Given the description of an element on the screen output the (x, y) to click on. 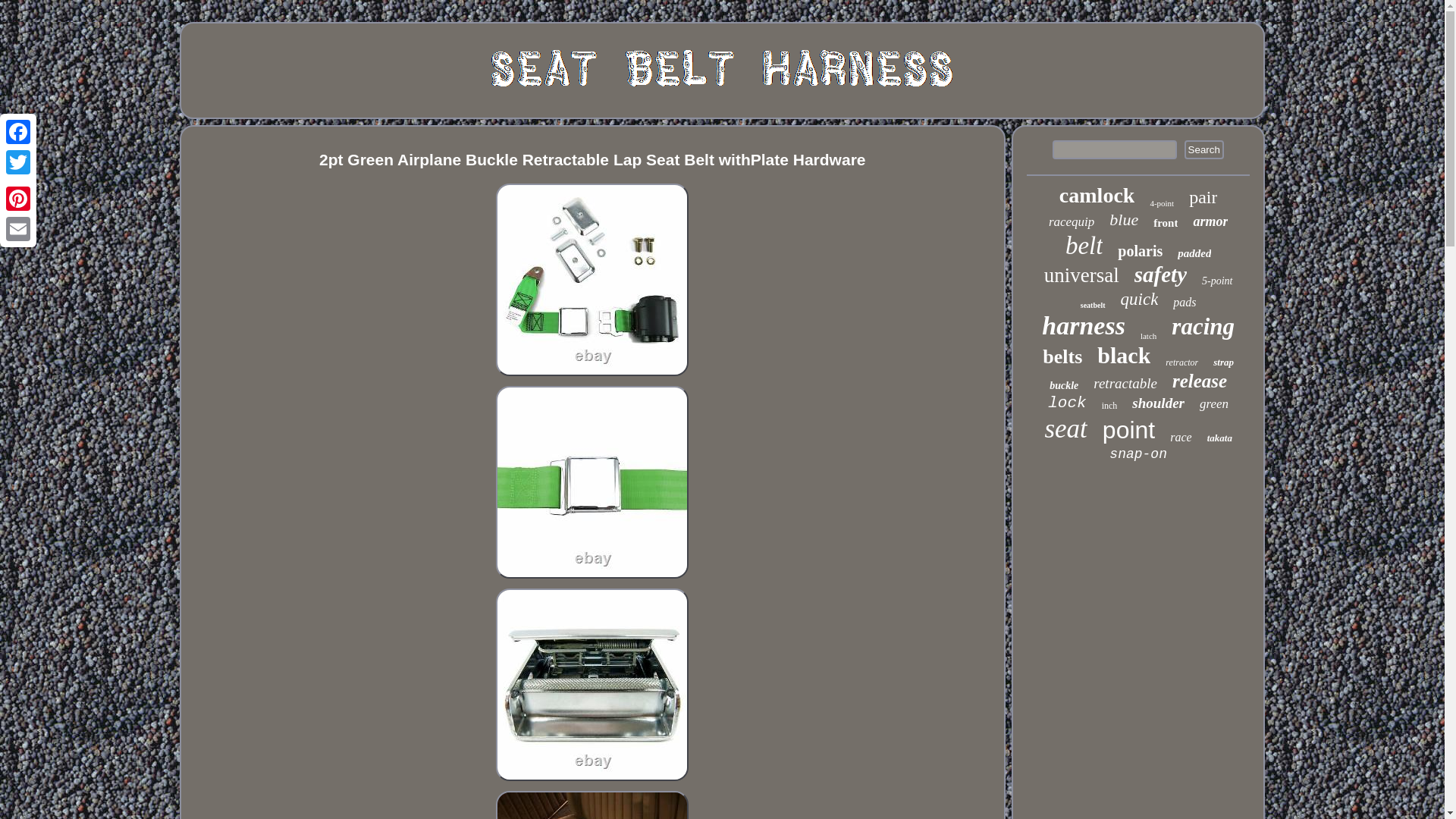
Email (17, 228)
polaris (1139, 251)
padded (1194, 253)
belt (1083, 245)
camlock (1097, 195)
pair (1203, 197)
Twitter (17, 162)
armor (1209, 221)
4-point (1161, 203)
universal (1081, 275)
Search (1204, 149)
blue (1123, 219)
5-point (1216, 281)
